Given the description of an element on the screen output the (x, y) to click on. 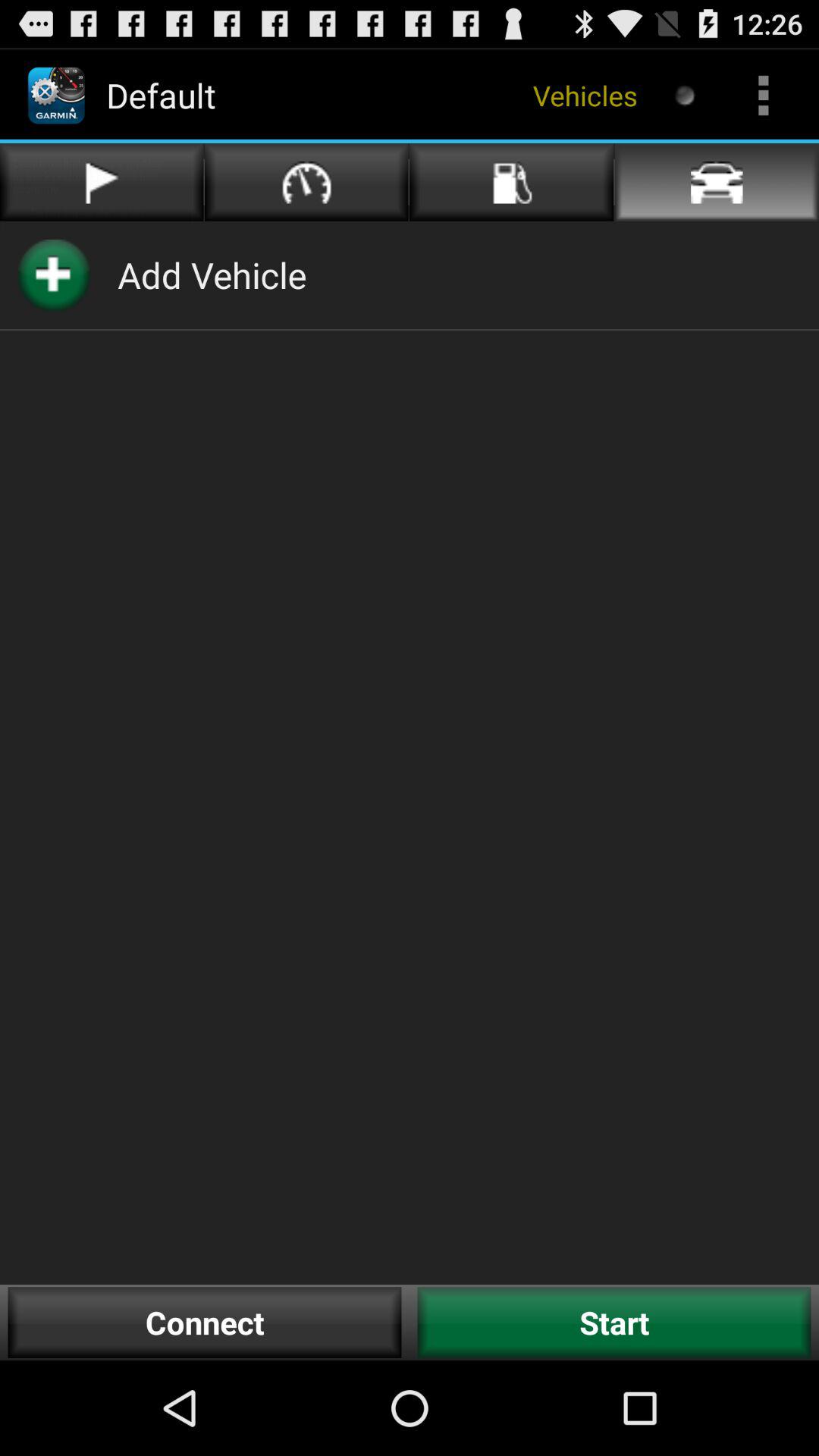
launch item next to connect icon (614, 1322)
